Given the description of an element on the screen output the (x, y) to click on. 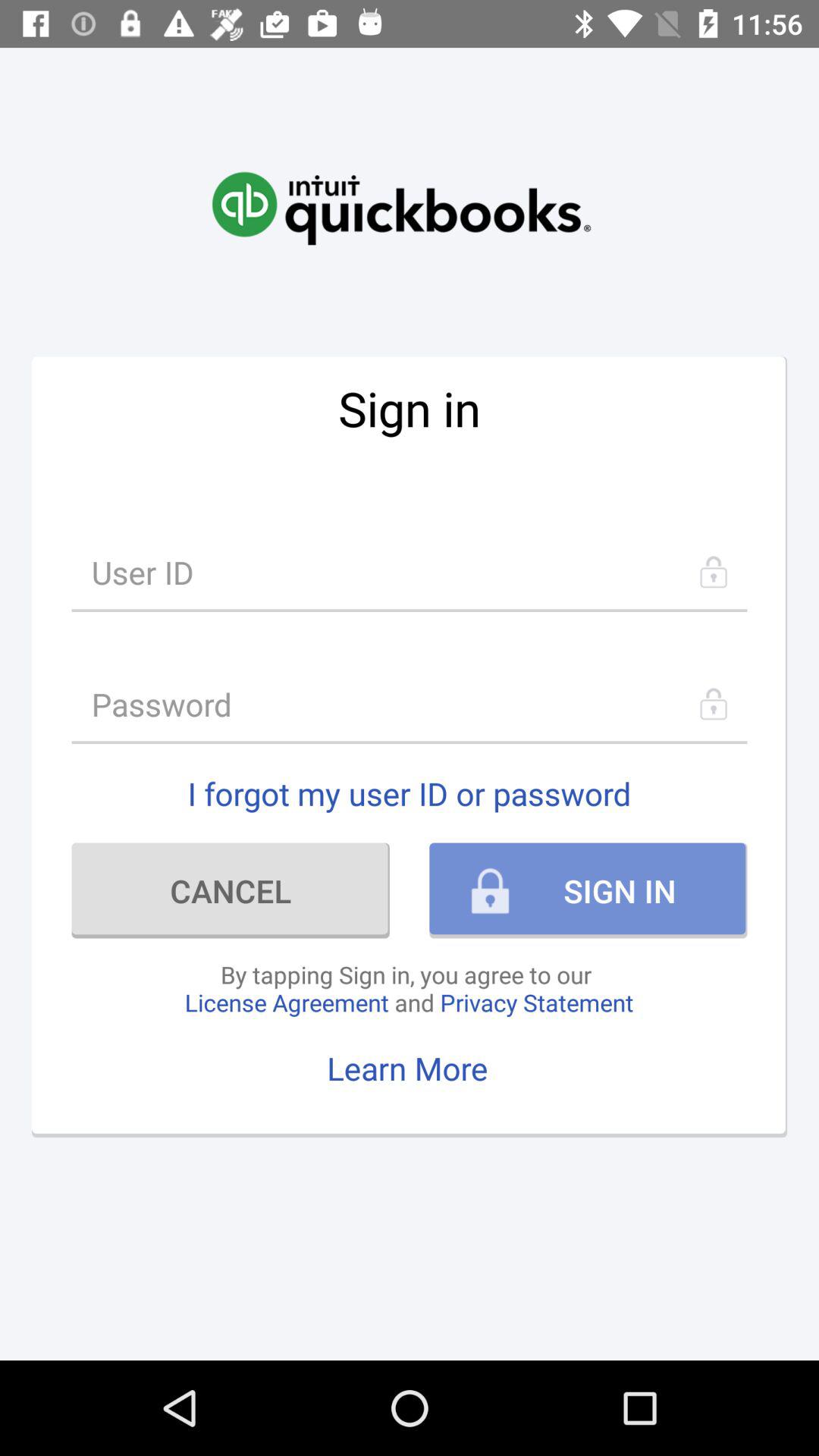
turn on item below cancel (408, 988)
